Given the description of an element on the screen output the (x, y) to click on. 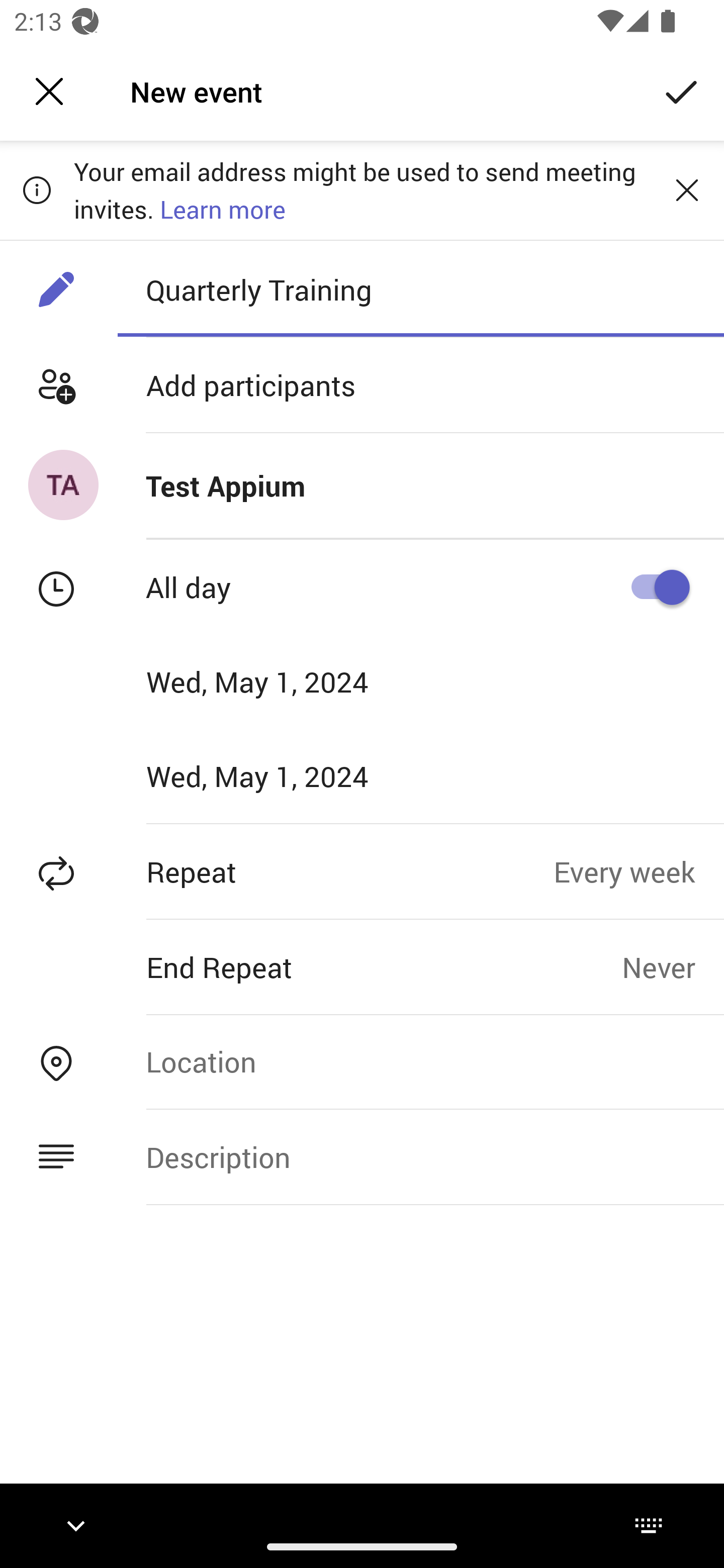
Back (49, 91)
Send invite (681, 90)
Dismiss banner (687, 189)
Quarterly Training (420, 289)
Add participants Add participants option (362, 384)
All day (654, 586)
Wed, May 1, 2024 Starts Wednesday May 01, 2024 (288, 681)
Wed, May 1, 2024 Ends Wednesday May 01, 2024 (288, 776)
Repeat (276, 871)
Every week Repeat Every week (638, 871)
End Repeat (310, 967)
Never End repeat Never (672, 967)
Location (420, 1061)
Description (420, 1157)
